Given the description of an element on the screen output the (x, y) to click on. 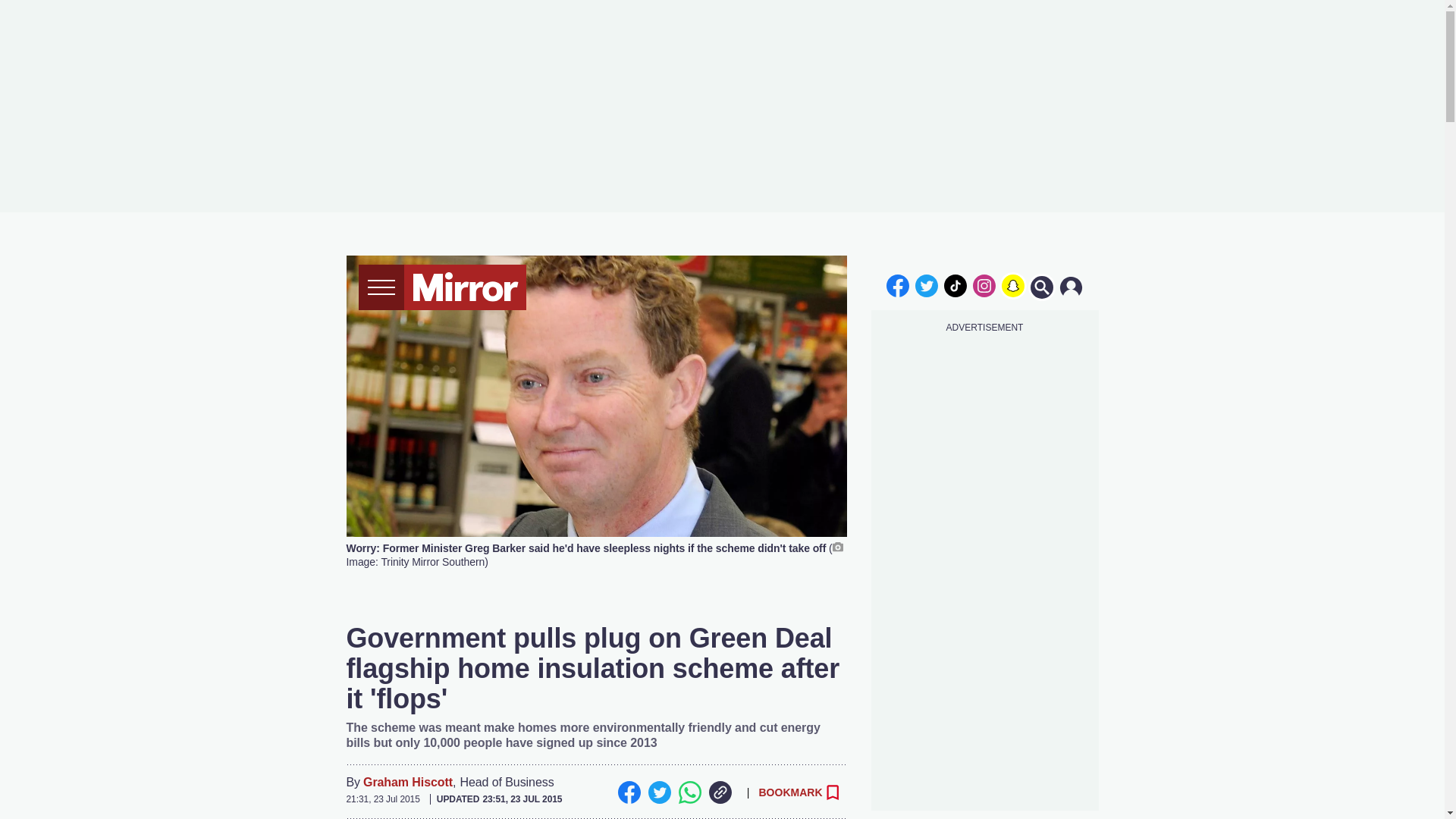
Whatsapp (689, 792)
facebook (897, 285)
Graham Hiscott (407, 782)
snapchat (1012, 285)
Facebook (628, 792)
tiktok (955, 285)
Twitter (658, 792)
twitter (926, 285)
instagram (984, 285)
